Given the description of an element on the screen output the (x, y) to click on. 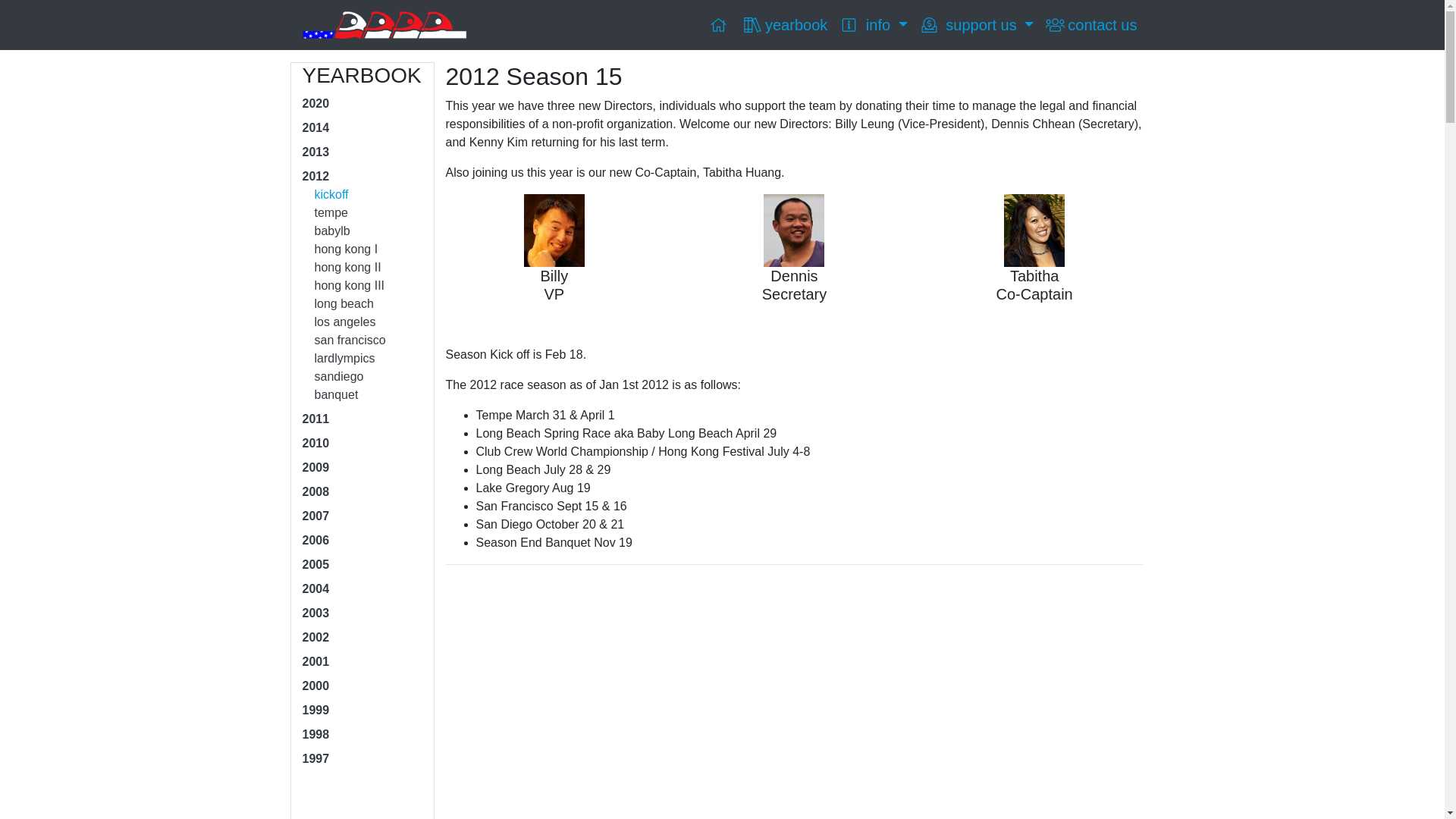
2014 (315, 127)
contact us (1090, 24)
babylb (331, 230)
yearbook (784, 24)
hong kong I (345, 248)
2012 (315, 175)
hong kong II (347, 267)
2020 (315, 103)
2013 (315, 151)
info (872, 24)
tempe (330, 212)
kickoff (330, 194)
support us (977, 24)
hong kong III (349, 285)
